Given the description of an element on the screen output the (x, y) to click on. 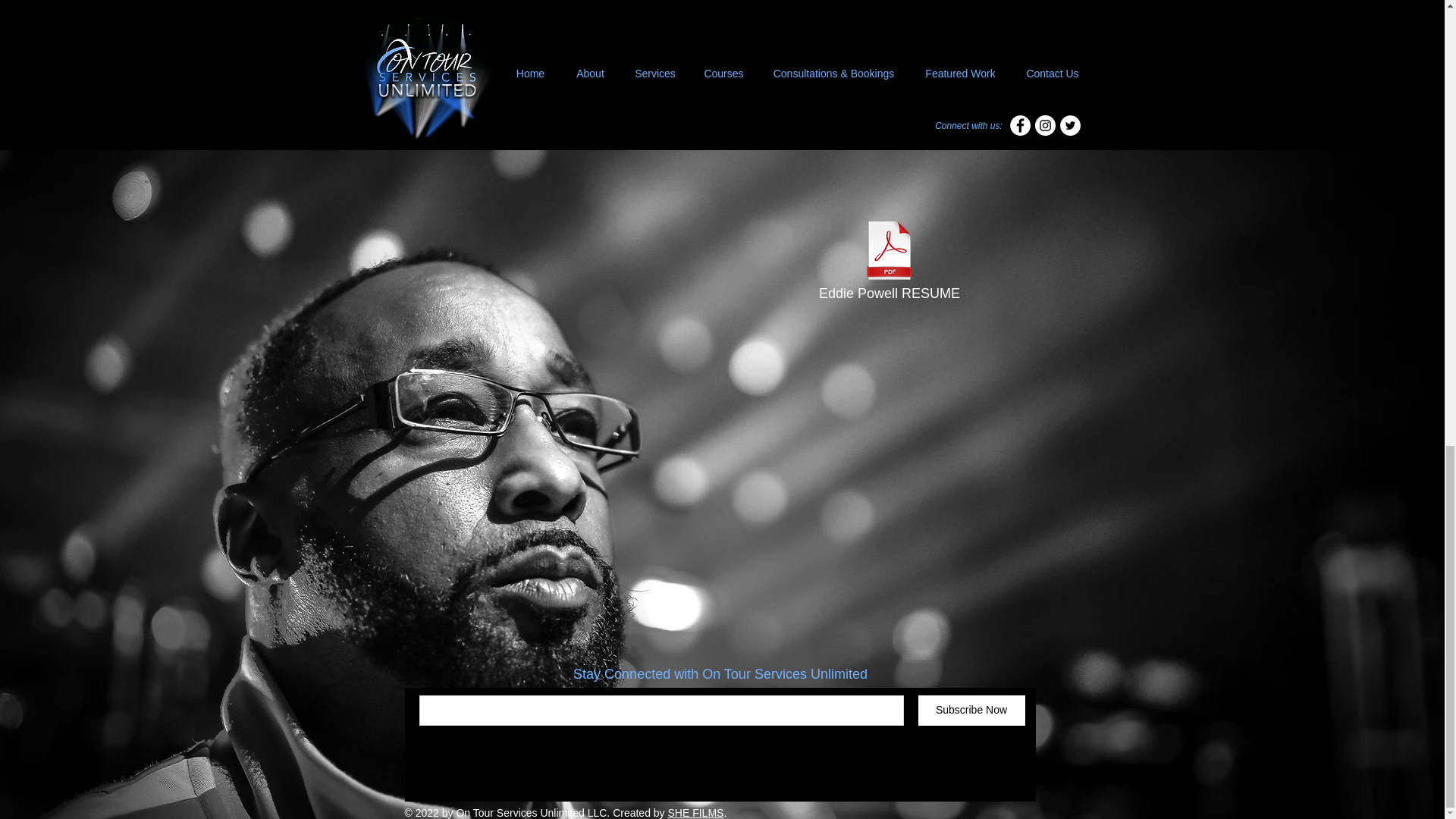
Subscribe Now (971, 710)
Eddie Powell RESUME (888, 261)
Eddie Powell RESUME (888, 261)
